Given the description of an element on the screen output the (x, y) to click on. 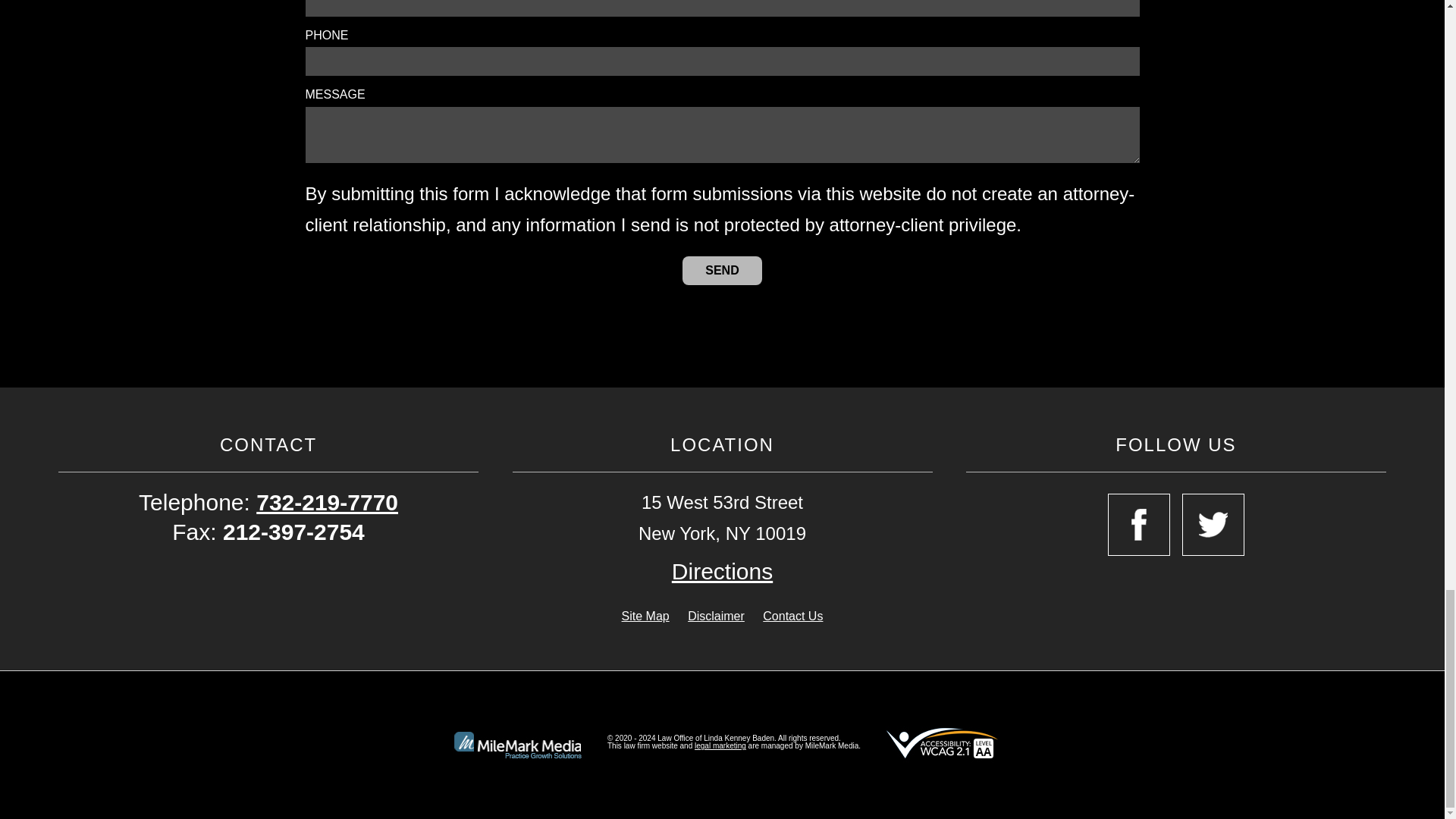
Open Google Map in a New Window (722, 571)
Open Facebook in a New Window (1139, 524)
Open Twitter in a New Window (1213, 524)
Open MileMarkMedia.com in a New Window (719, 746)
Send (721, 270)
732-219-7770 (326, 502)
Send (721, 270)
